Given the description of an element on the screen output the (x, y) to click on. 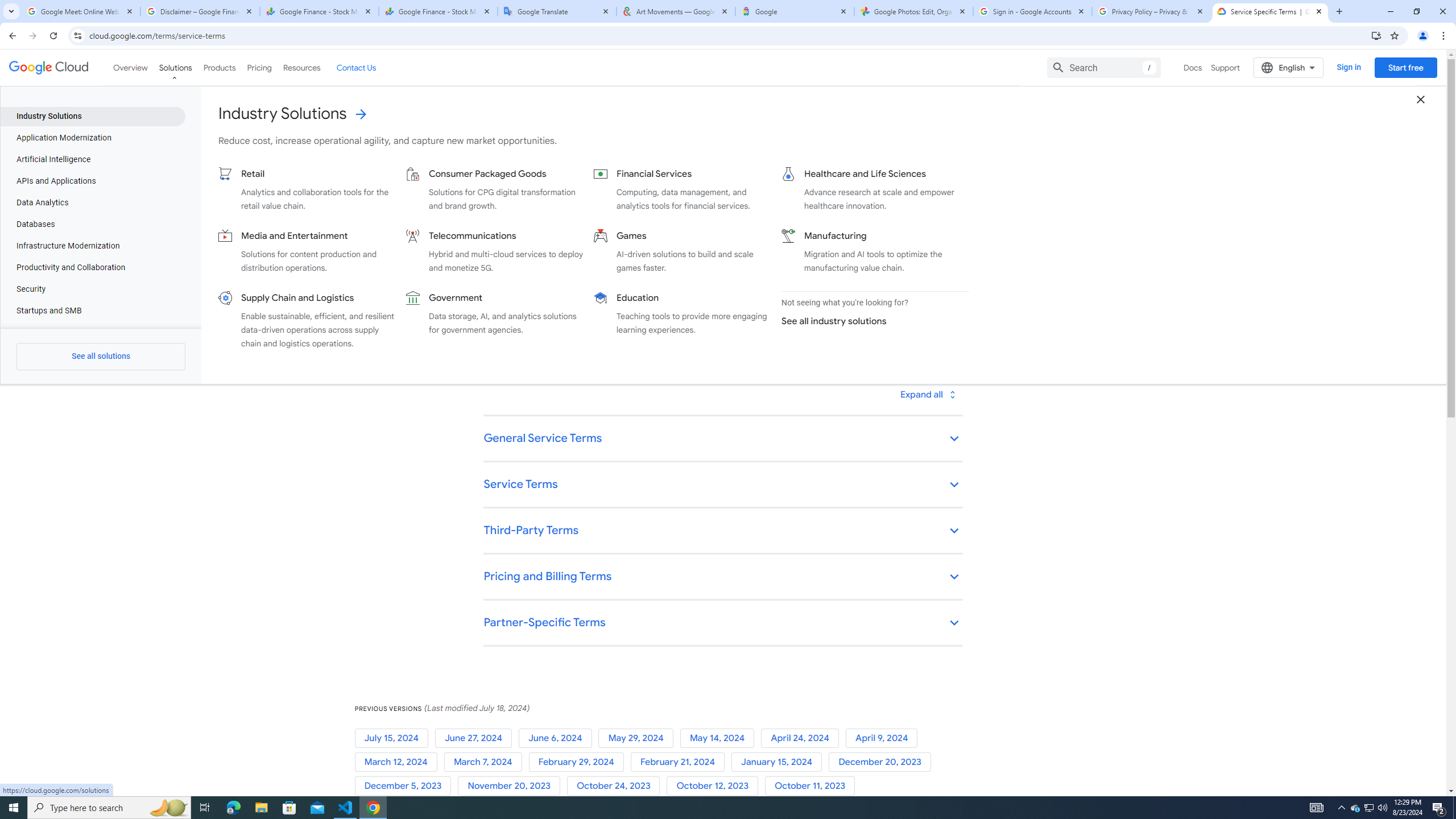
Data Analytics (92, 202)
Application Modernization (92, 138)
Sign in - Google Accounts (1032, 11)
Pricing and Billing Terms keyboard_arrow_down (722, 577)
July 15, 2024 (394, 737)
Products (218, 67)
Support (1225, 67)
Infrastructure Modernization (92, 245)
Back to Google Cloud Terms Directory (544, 128)
Startups and SMB (92, 311)
General Service Terms keyboard_arrow_down (722, 439)
